Given the description of an element on the screen output the (x, y) to click on. 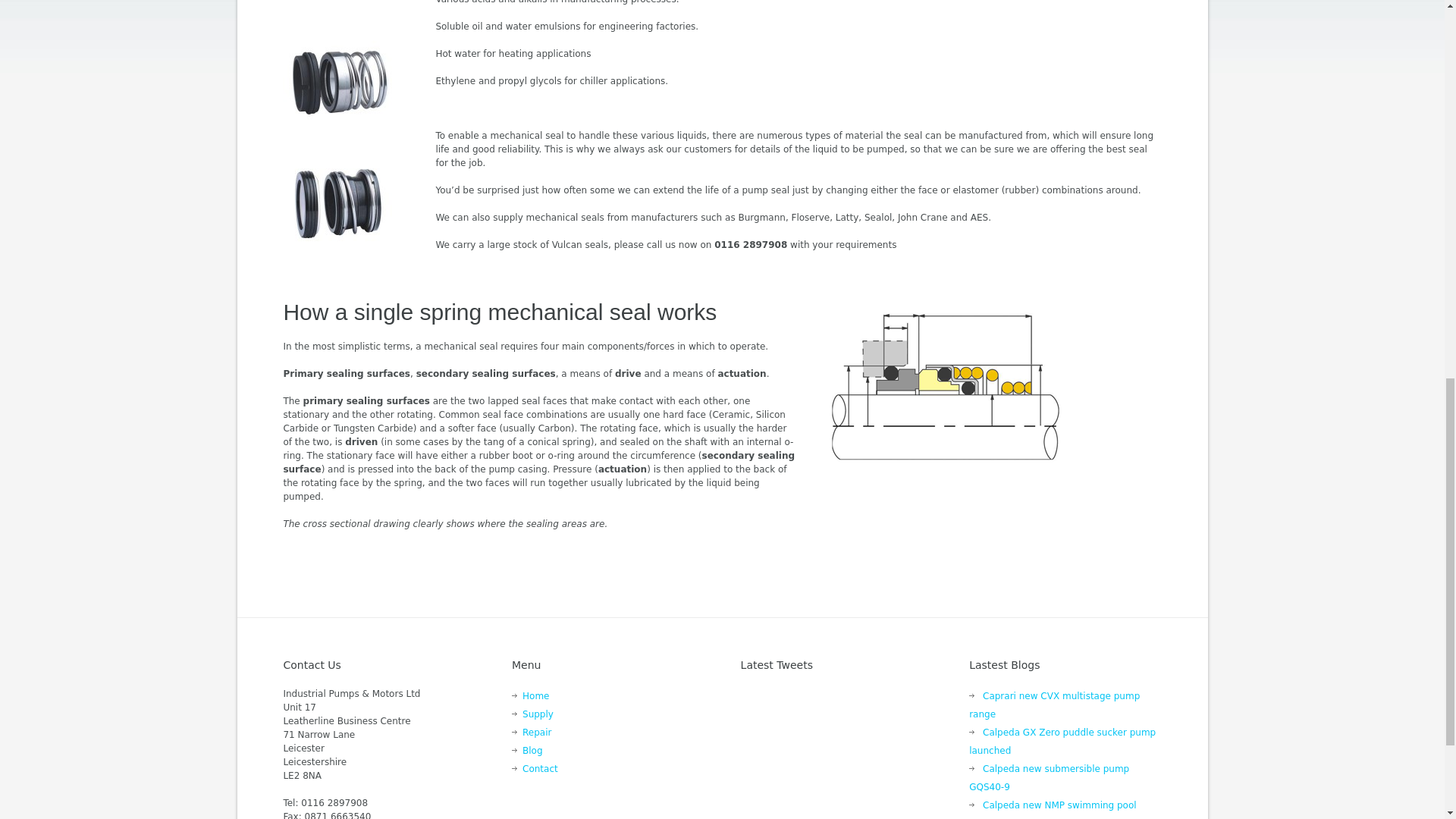
Calpeda new NMP swimming pool pumps (1052, 809)
Calpeda GX Zero puddle sucker pump launched (1062, 741)
Caprari new CVX multistage pump range (1054, 705)
Calpeda new submersible pump GQS40-9 (1049, 777)
